Given the description of an element on the screen output the (x, y) to click on. 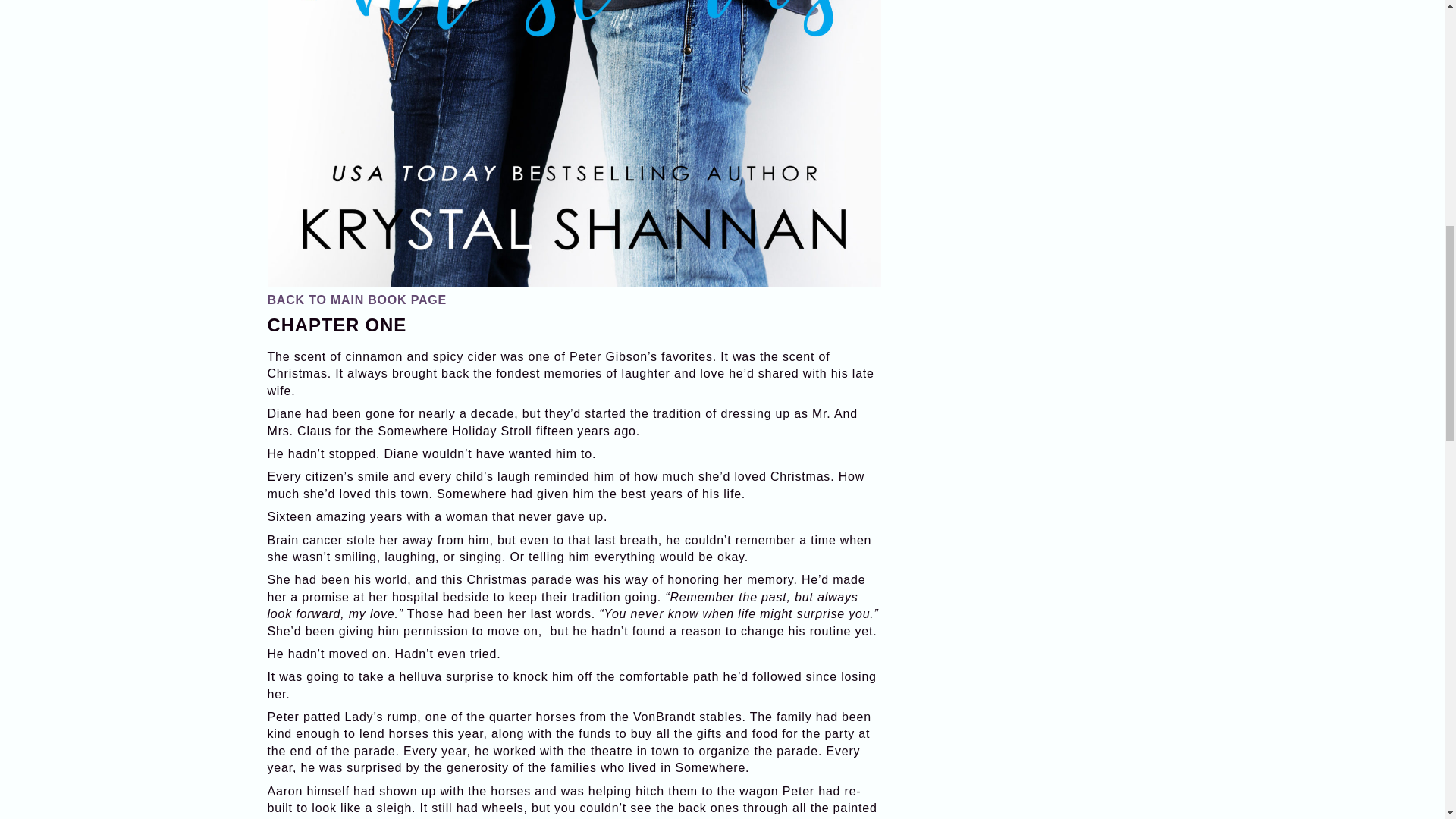
BACK TO MAIN BOOK PAGE (356, 299)
